Given the description of an element on the screen output the (x, y) to click on. 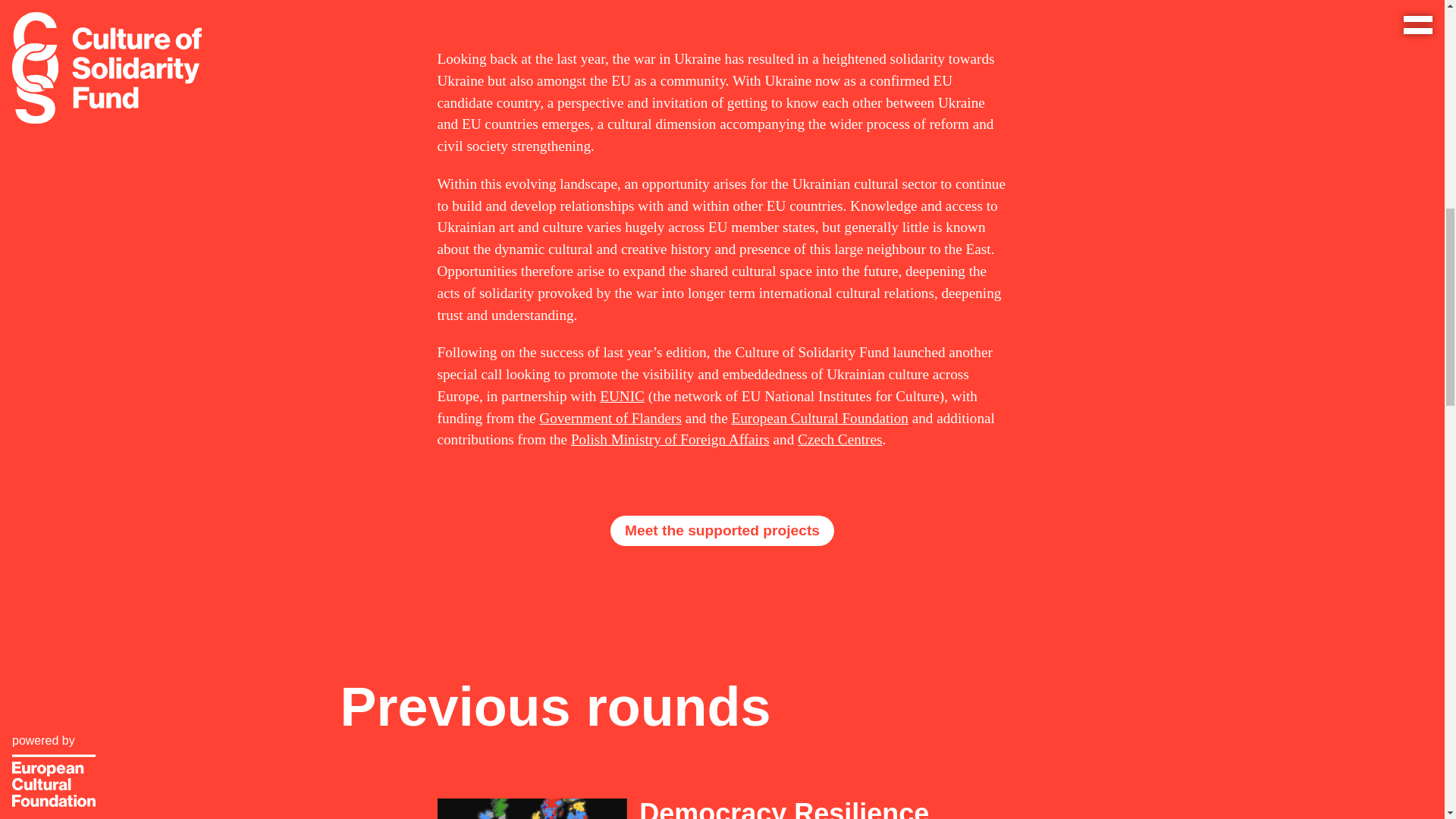
Government of Flanders (609, 417)
Democracy Resilience edition (823, 808)
Czech Centres (839, 439)
EUNIC (622, 396)
Meet the supported projects (722, 530)
European Cultural Foundation (818, 417)
Polish Ministry of Foreign Affairs (670, 439)
